Given the description of an element on the screen output the (x, y) to click on. 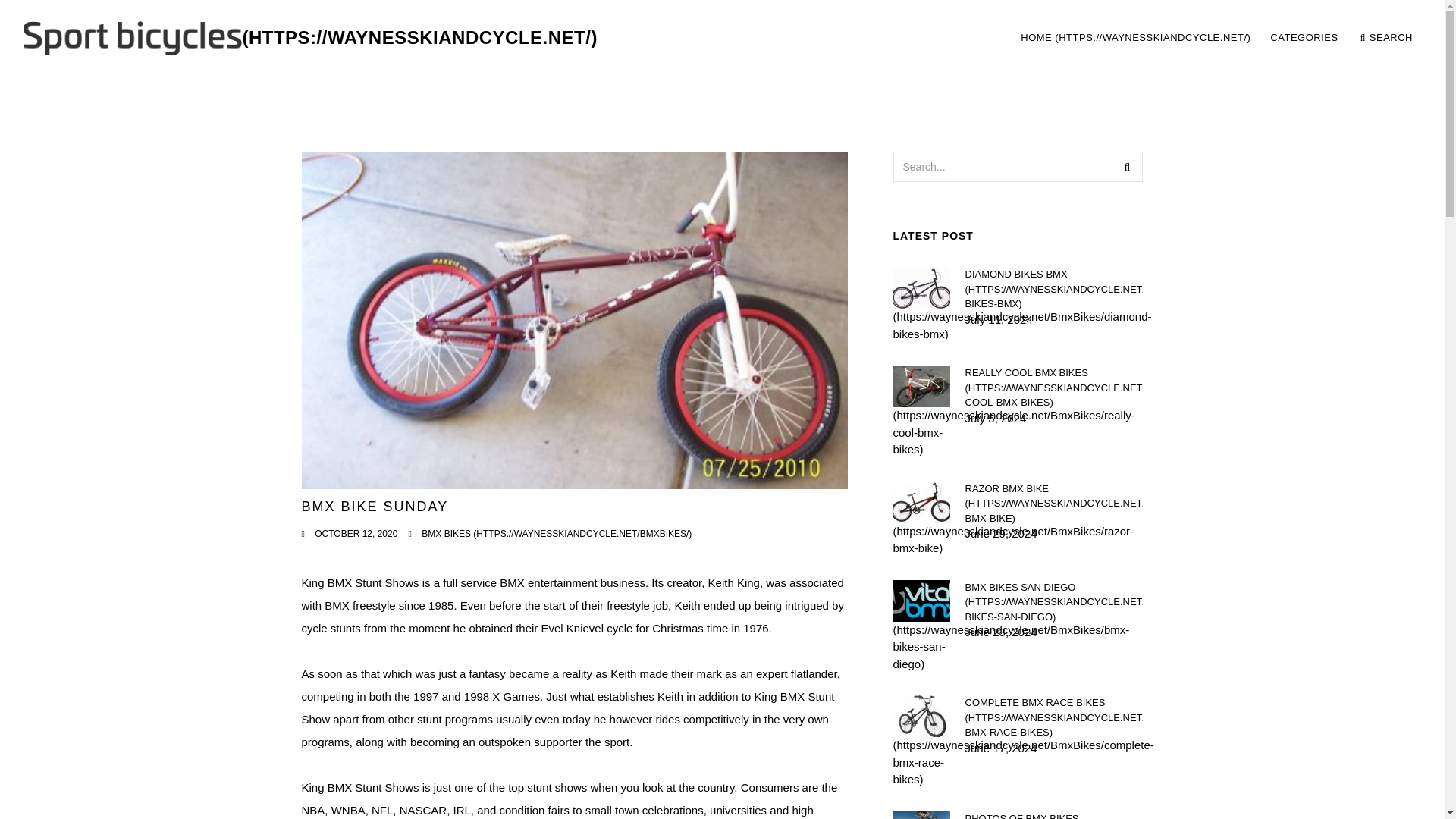
RAZOR BMX BIKE (1052, 502)
SEARCH (1386, 38)
CATEGORIES (1304, 38)
DIAMOND BIKES BMX (1052, 289)
BMX BIKES SAN DIEGO (1052, 601)
Sport bicycles (309, 38)
Search (1126, 166)
HOME (1216, 38)
BMX BIKES (1135, 38)
REALLY COOL BMX BIKES (556, 533)
